Given the description of an element on the screen output the (x, y) to click on. 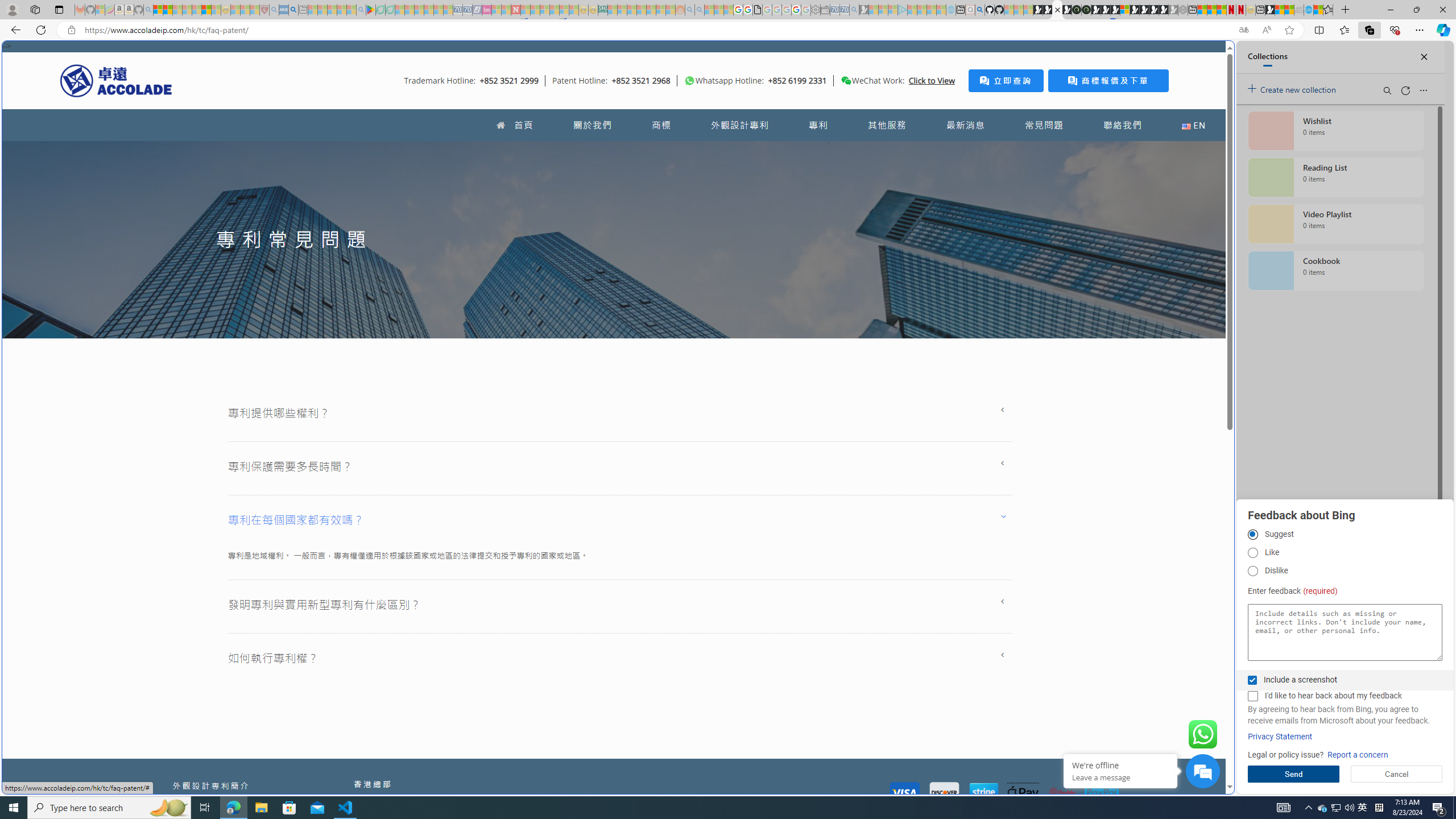
Suggest (1252, 534)
